Given the description of an element on the screen output the (x, y) to click on. 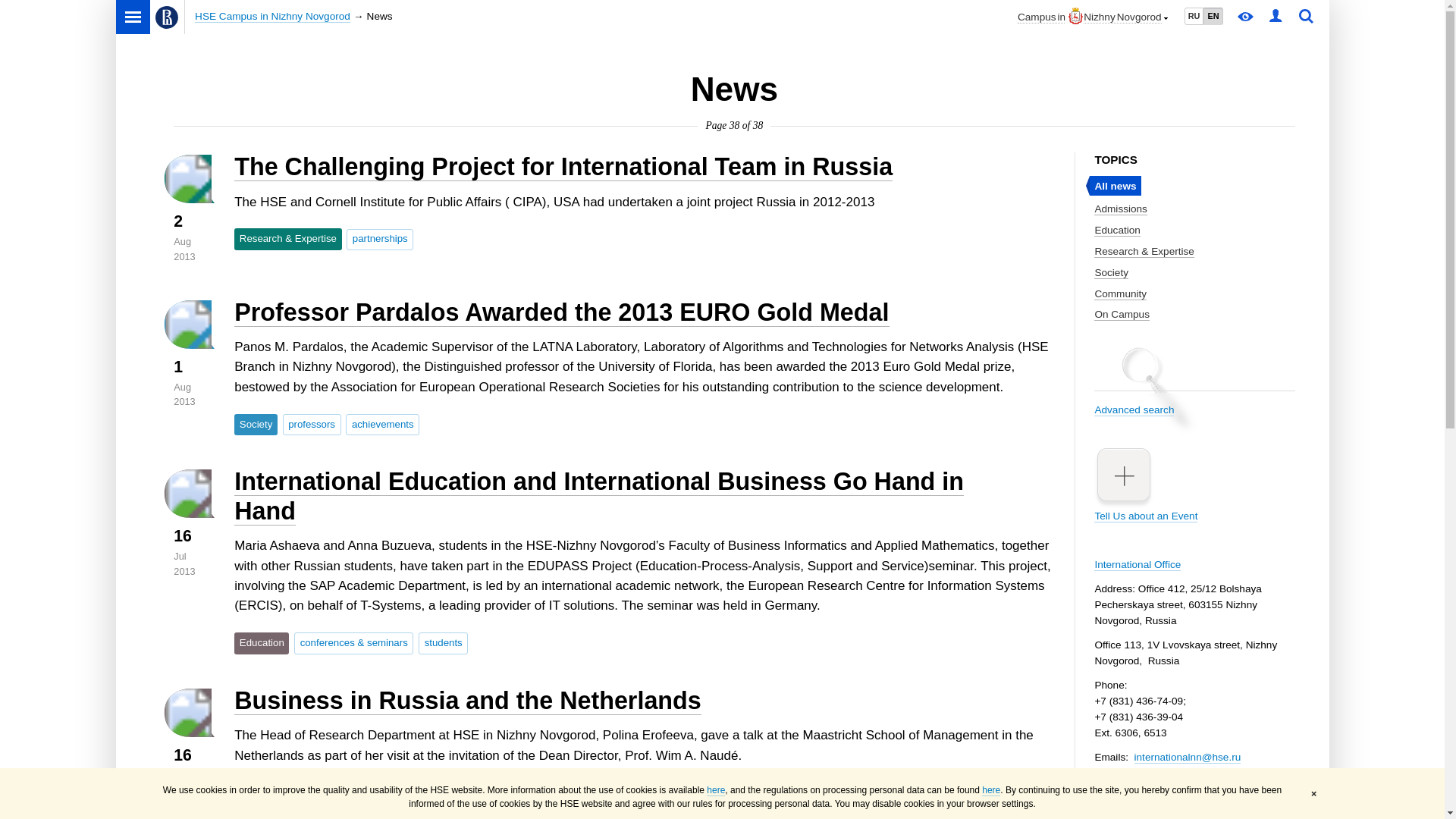
students (443, 642)
Map of HSE Buildings (1143, 806)
Education (261, 642)
Professor Pardalos Awarded the 2013 EURO Gold Medal (561, 312)
students (443, 642)
On Campus (1122, 314)
The Challenging Project for International Team in Russia (563, 166)
Society (1111, 272)
Advanced search (1194, 395)
lecture (441, 792)
achievements (382, 424)
partnerships (379, 239)
achievements (382, 424)
here (715, 790)
international cooperation (354, 792)
